Given the description of an element on the screen output the (x, y) to click on. 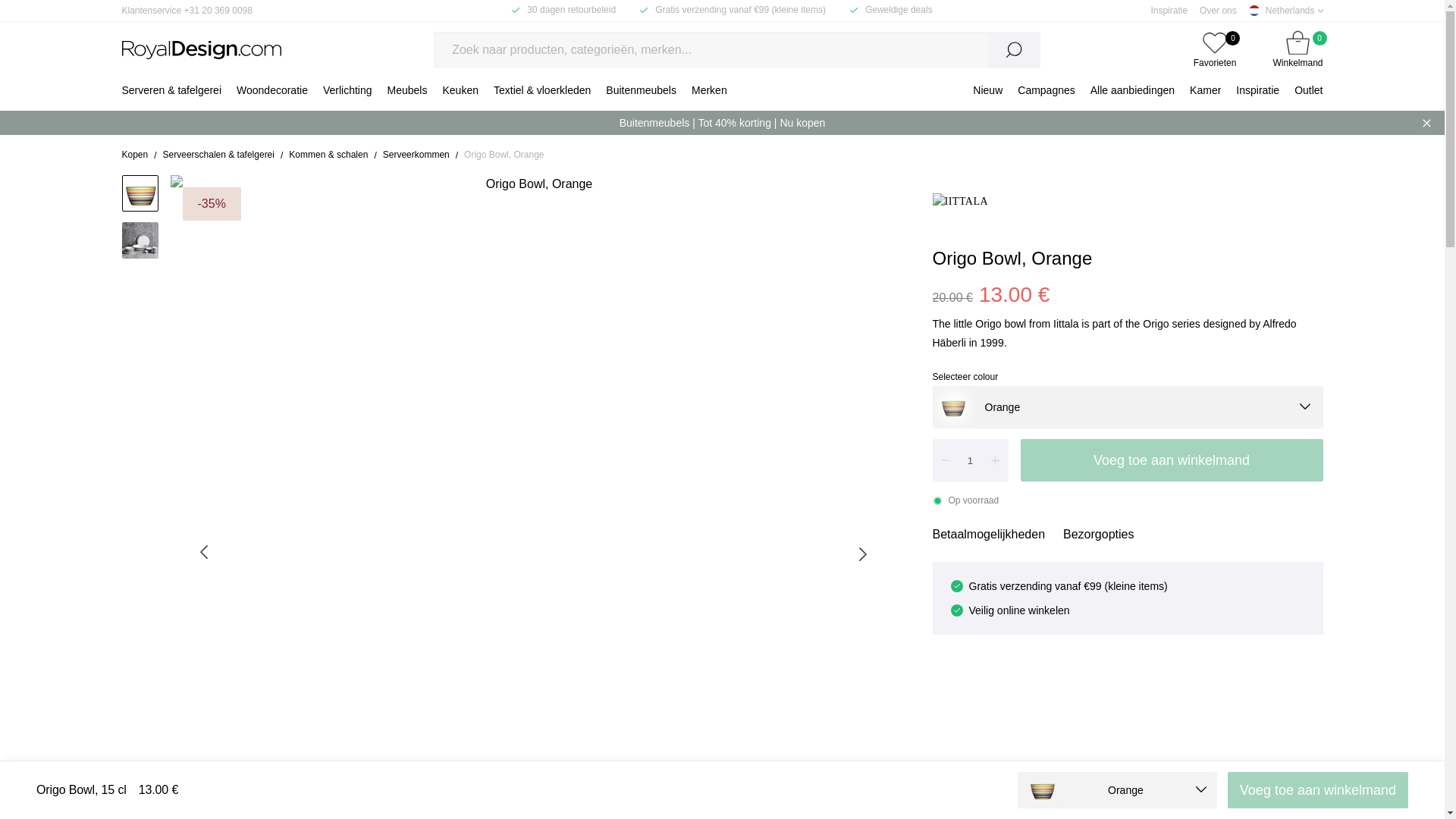
Checkbox (853, 10)
Zoeken (1014, 48)
Netherlands (1296, 10)
Inspiratie (1169, 9)
Checkbox (1214, 49)
Kamer (515, 10)
Inspiratie (1205, 93)
Netherlands (1257, 93)
